Given the description of an element on the screen output the (x, y) to click on. 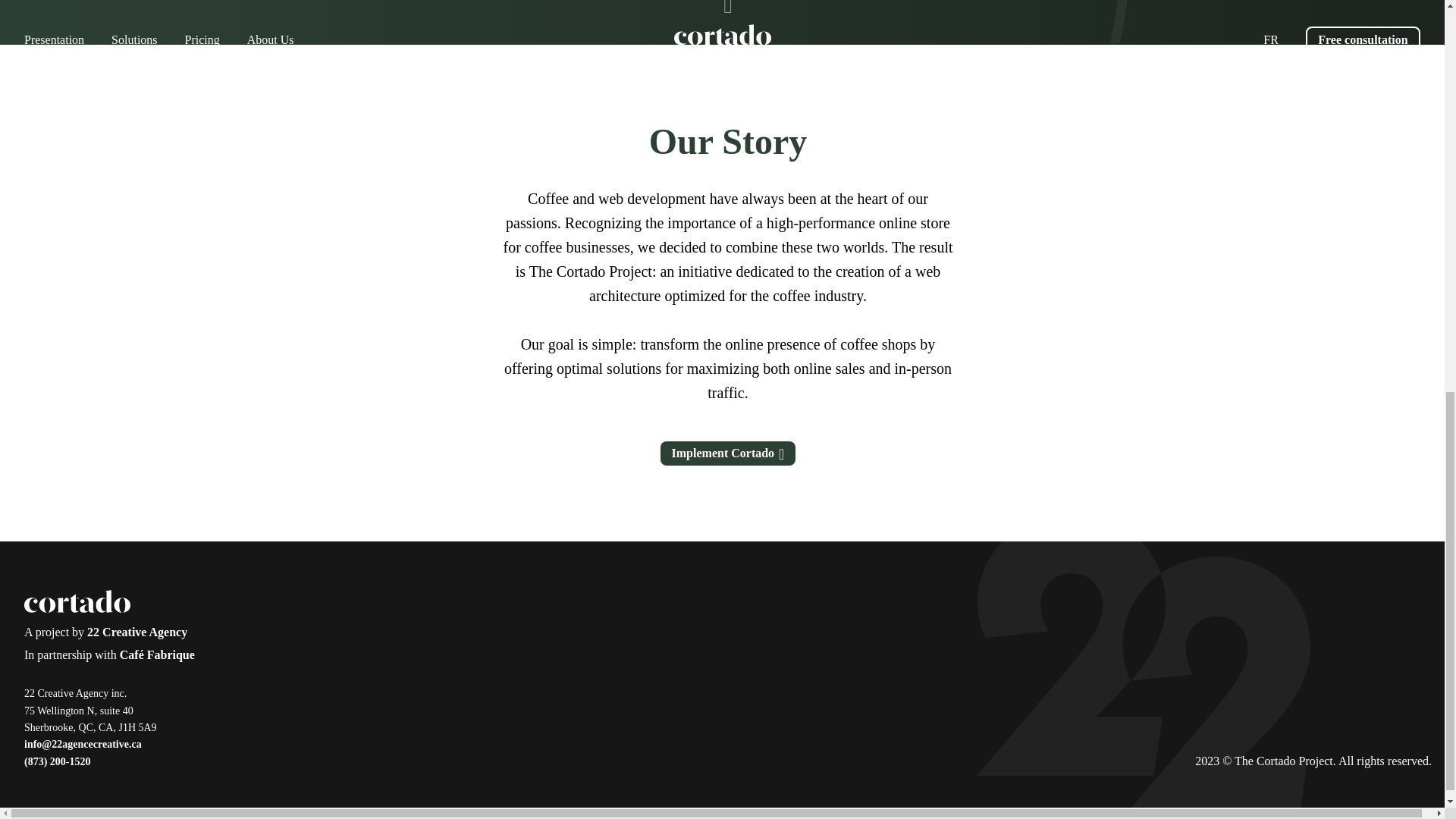
22 Creative Agency (137, 631)
Projet Cortado (77, 604)
22 Creative Agency (137, 631)
Email (82, 744)
